Given the description of an element on the screen output the (x, y) to click on. 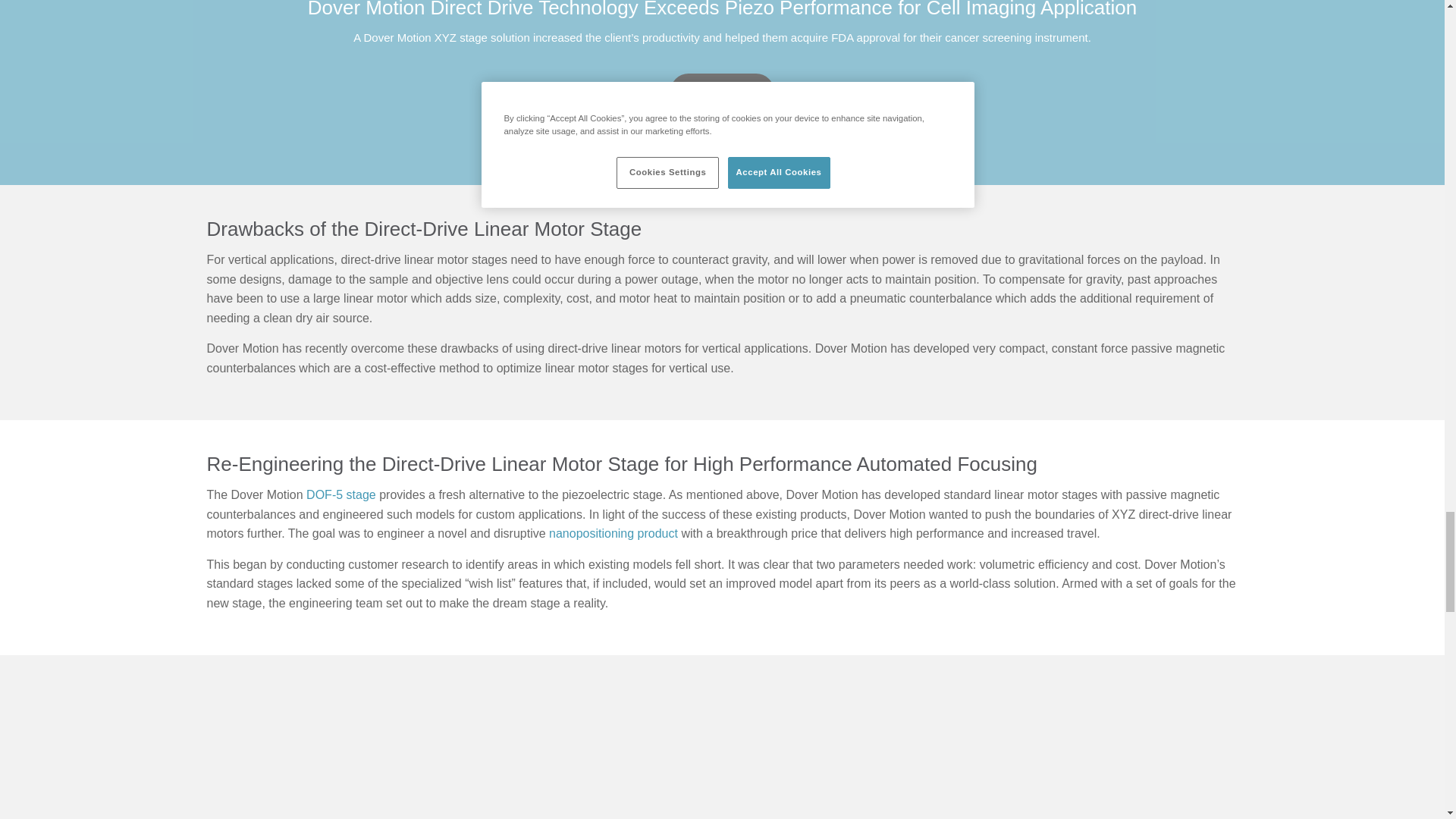
YouTube video player (554, 752)
